Given the description of an element on the screen output the (x, y) to click on. 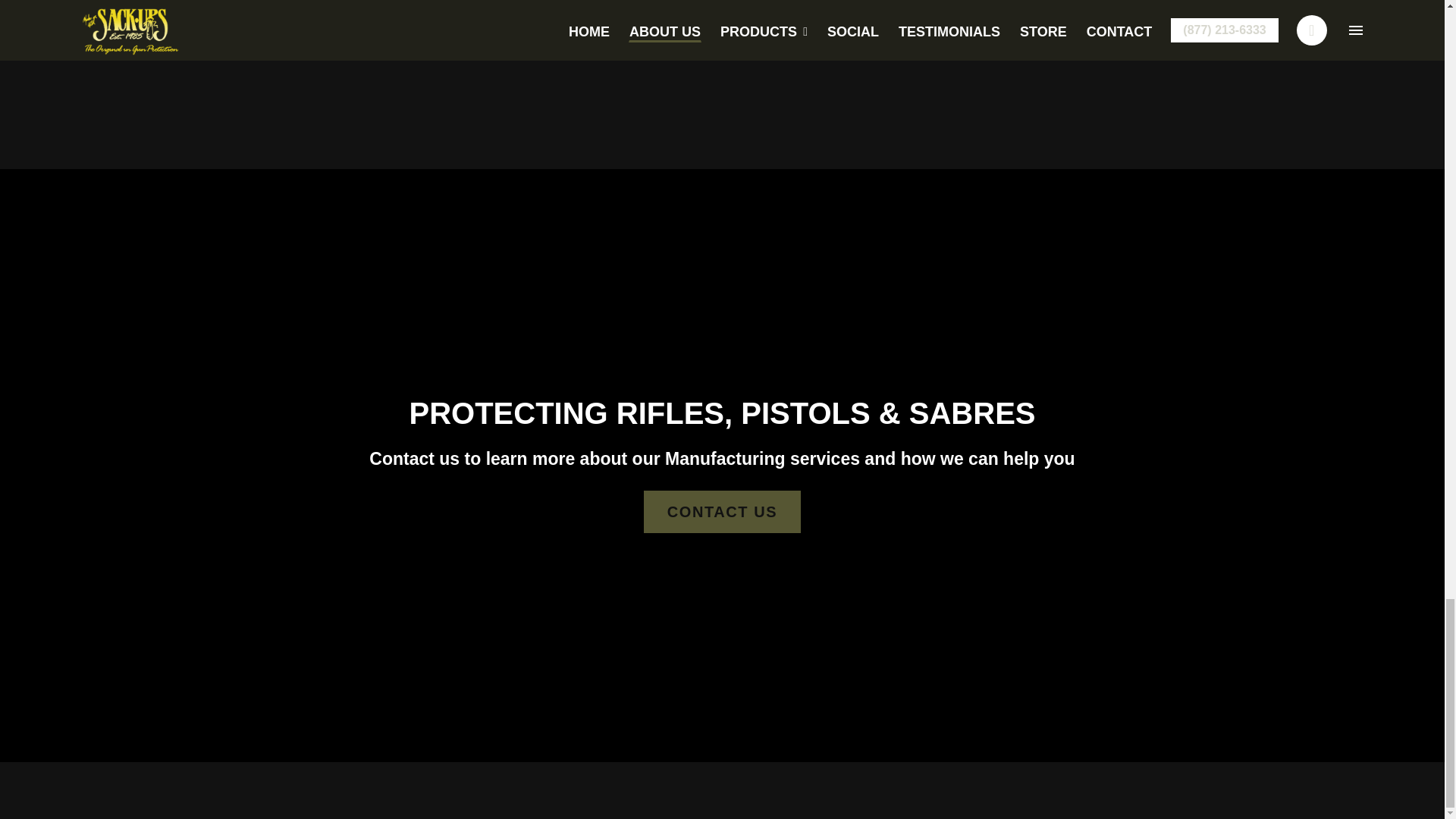
CONTACT US (722, 511)
CONTACT US (722, 511)
Gallery image (721, 57)
